Given the description of an element on the screen output the (x, y) to click on. 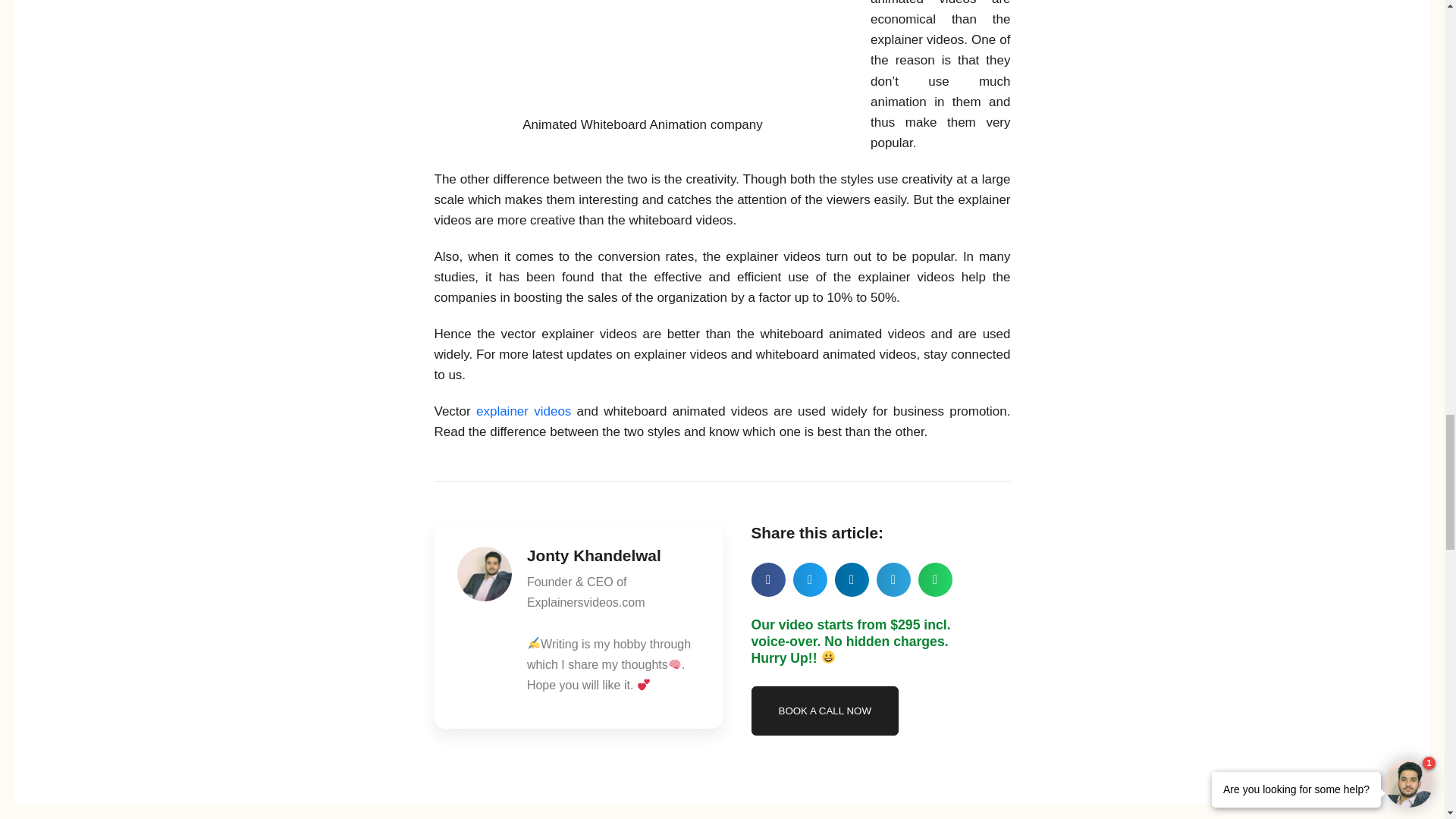
Jonty Khandelwal (612, 556)
BOOK A CALL NOW (824, 710)
explainer videos (523, 411)
